Given the description of an element on the screen output the (x, y) to click on. 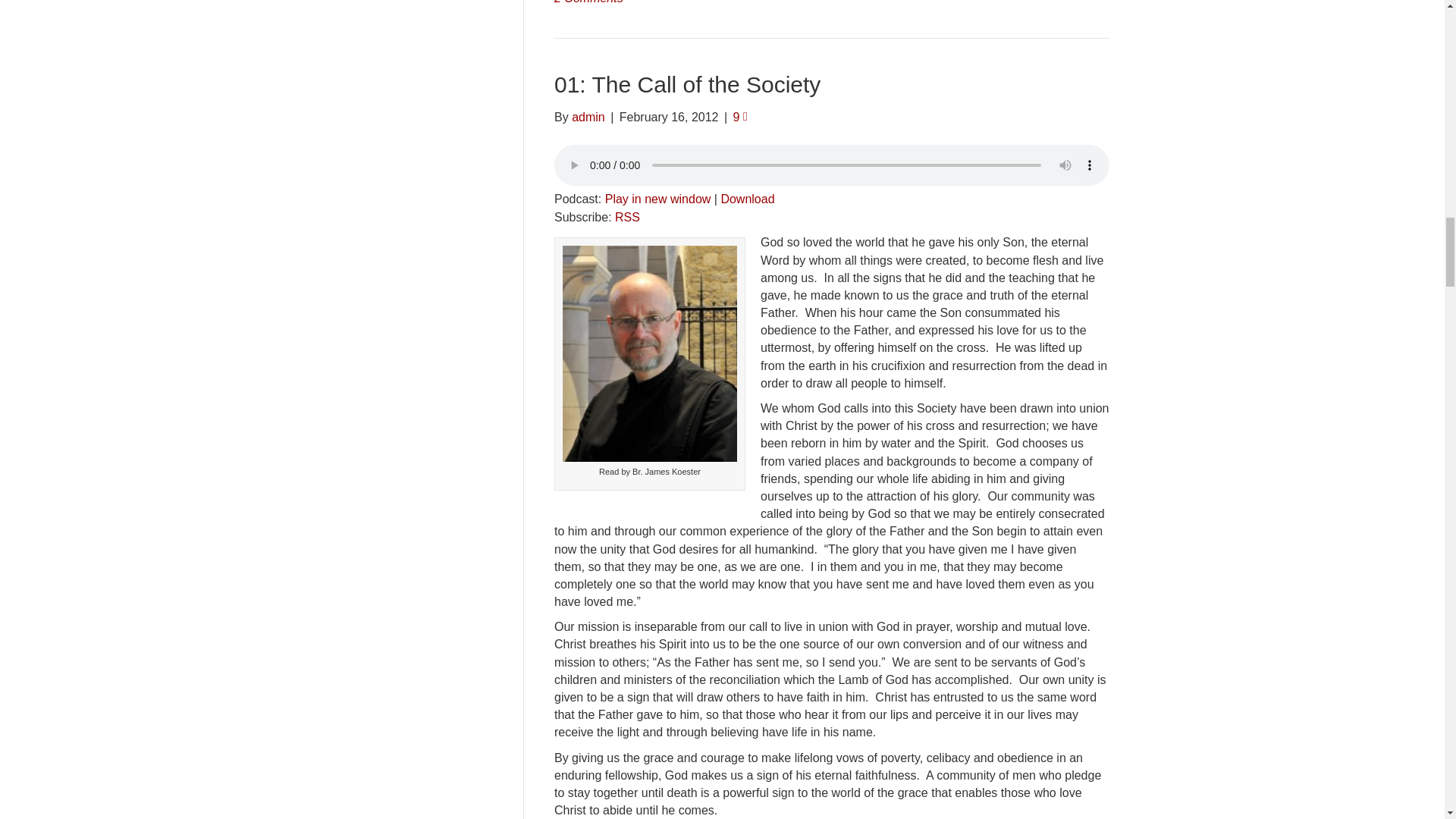
Subscribe via RSS (627, 216)
Play in new window (658, 198)
Download (747, 198)
01: The Call of the Society (687, 84)
